Given the description of an element on the screen output the (x, y) to click on. 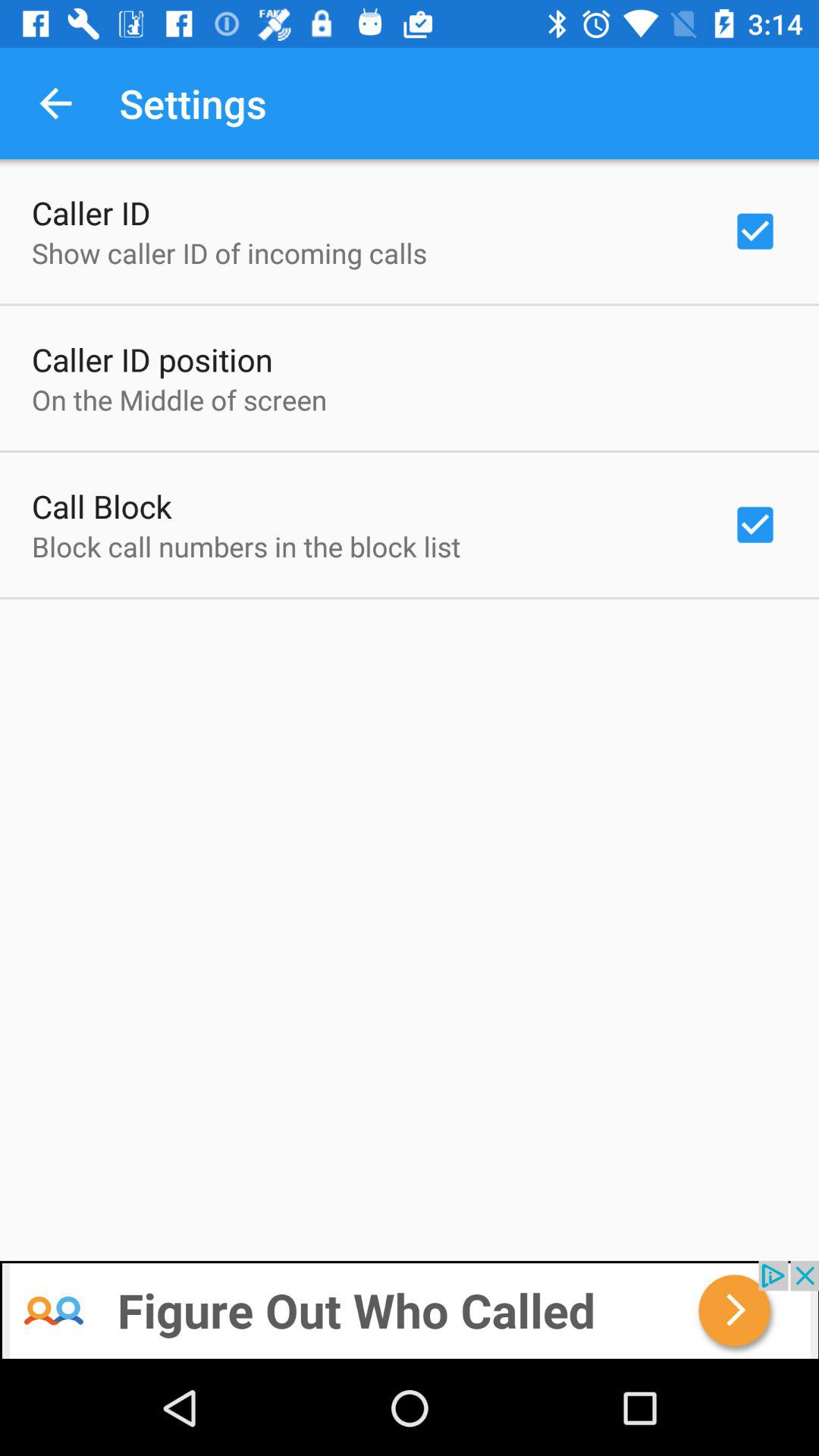
select the add (409, 1310)
